Given the description of an element on the screen output the (x, y) to click on. 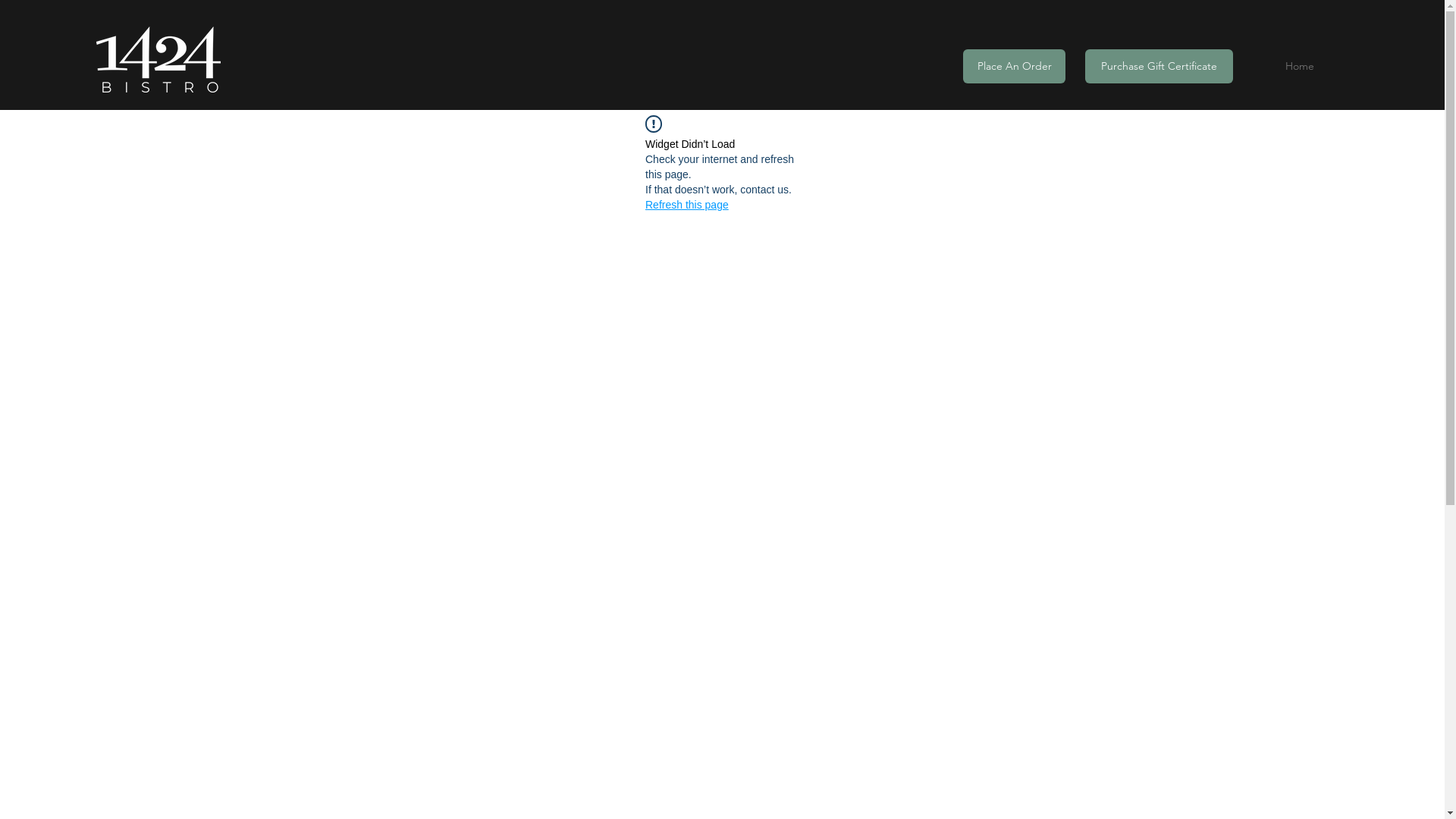
Refresh this page Element type: text (686, 204)
Home Element type: text (1299, 65)
Place An Order Element type: text (1014, 66)
Purchase Gift Certificate Element type: text (1159, 66)
